Given the description of an element on the screen output the (x, y) to click on. 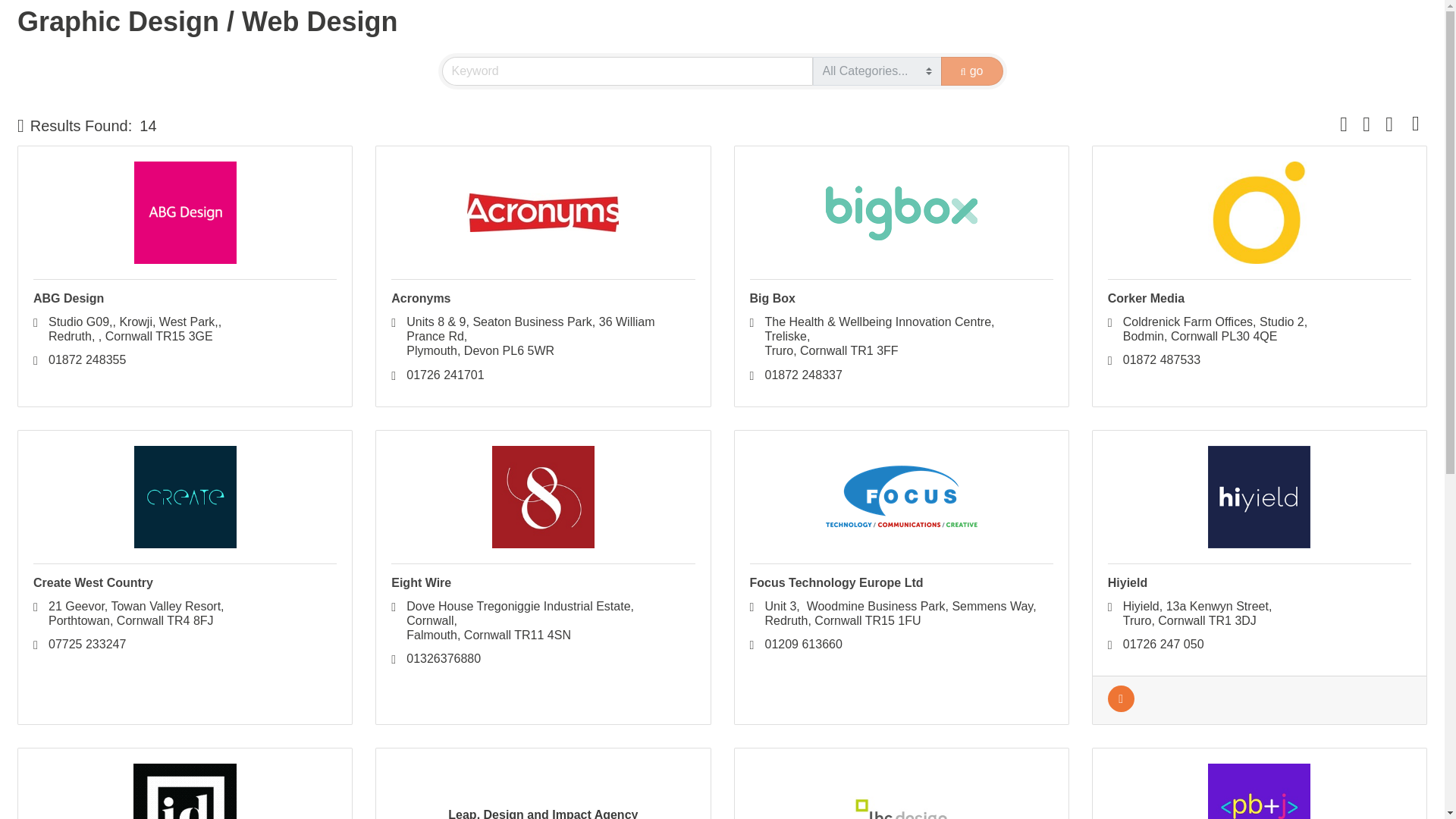
01726 247 050 (1163, 644)
Create West Country (92, 582)
Focus Technology Europe Ltd (836, 582)
Acronyms (420, 297)
Print (1366, 124)
Sort by A-Z (1343, 124)
Corker Media (1146, 297)
Eight Wire (421, 582)
01872 248337 (802, 374)
01726 241701 (444, 374)
Hiyield (1127, 582)
01872 487533 (134, 328)
